Given the description of an element on the screen output the (x, y) to click on. 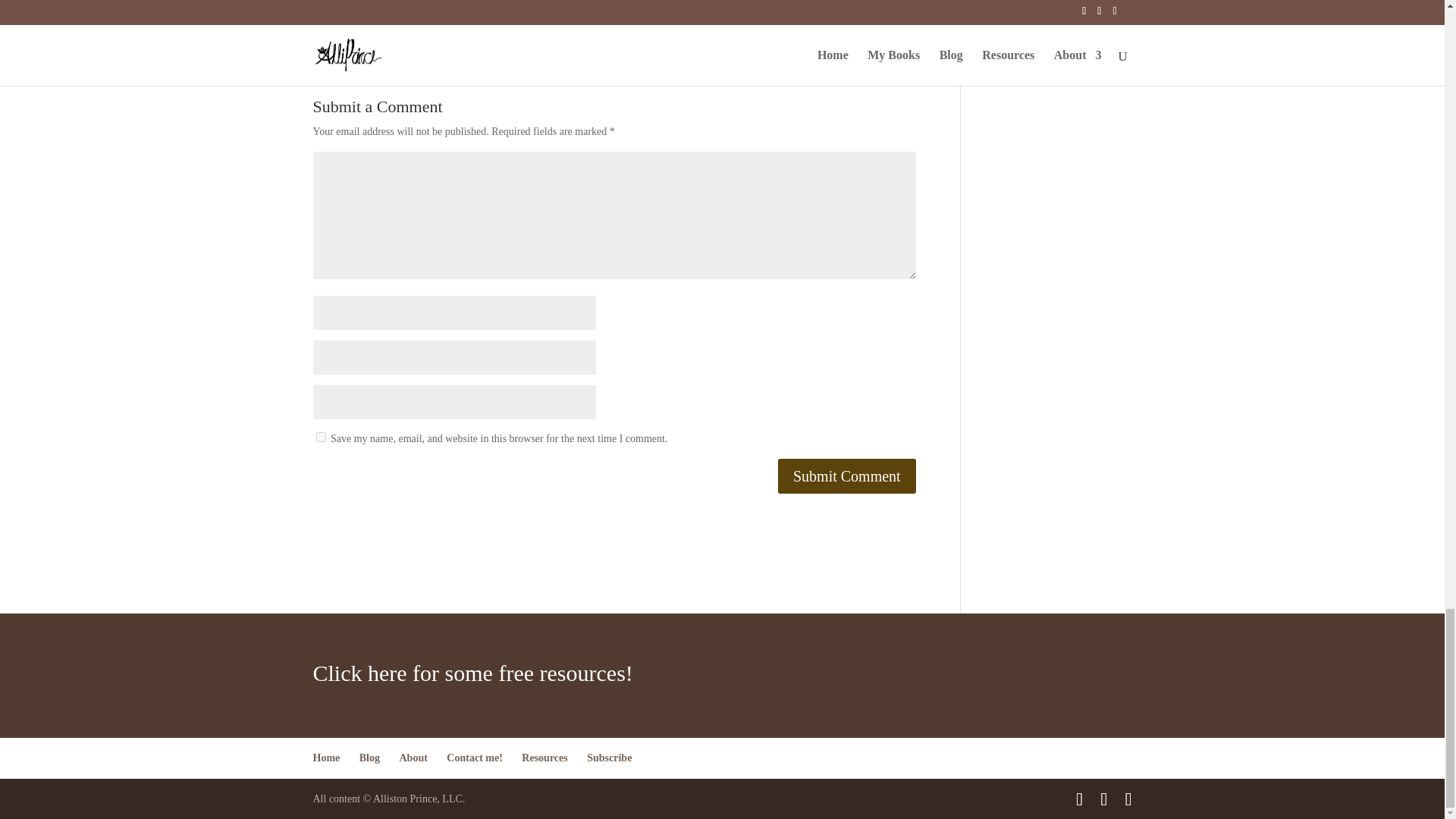
Reply (881, 11)
yes (319, 437)
Submit Comment (846, 475)
Allison Prince (500, 0)
